Given the description of an element on the screen output the (x, y) to click on. 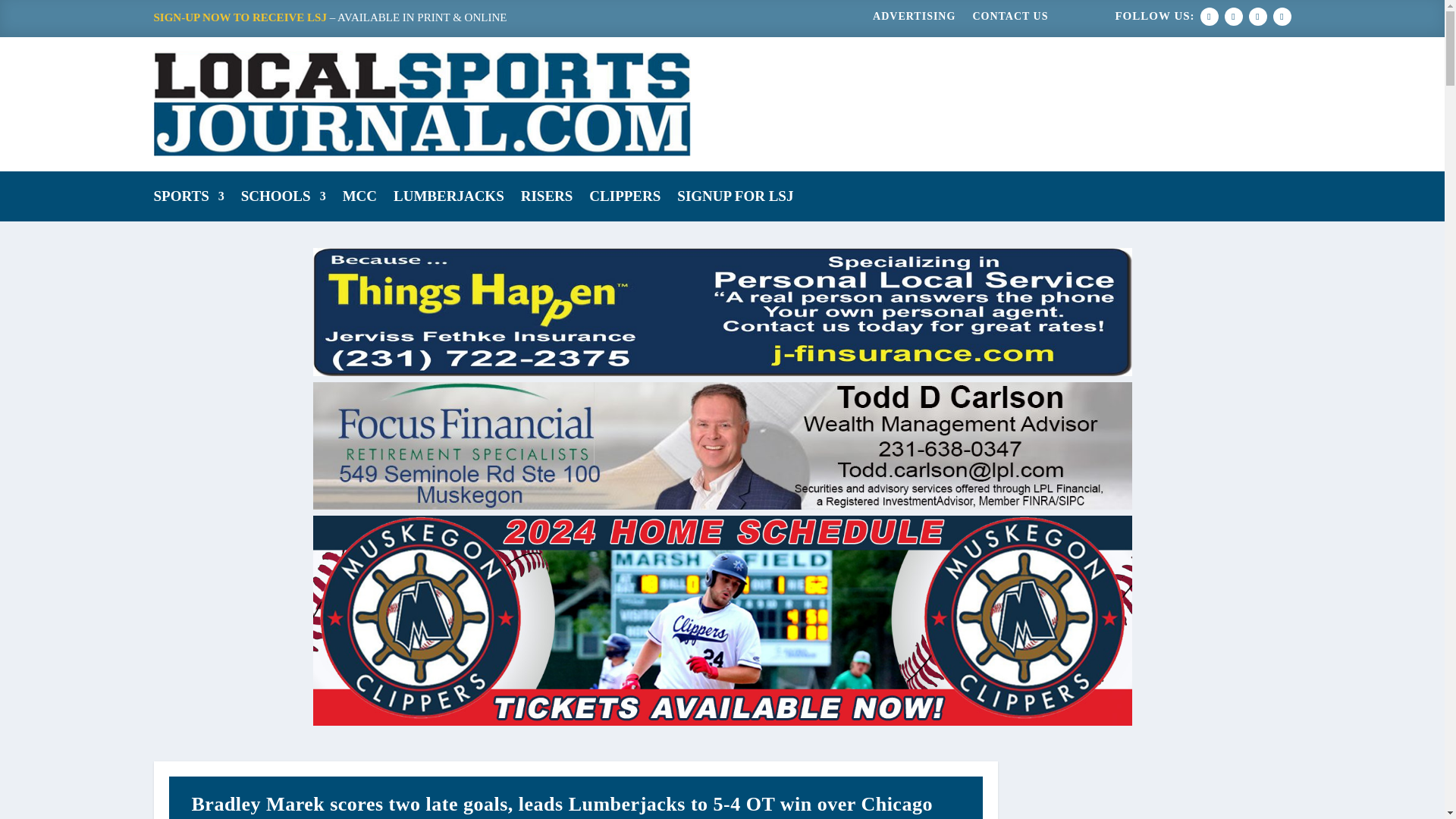
SPORTS (188, 199)
CONTACT US (1010, 19)
Follow on X (1232, 16)
SCHOOLS (283, 199)
Follow on Instagram (1256, 16)
SIGN-UP NOW TO RECEIVE LSJ (239, 17)
Follow on Facebook (1208, 16)
logo (421, 103)
ADVERTISING (913, 19)
Follow on Youtube (1281, 16)
